Given the description of an element on the screen output the (x, y) to click on. 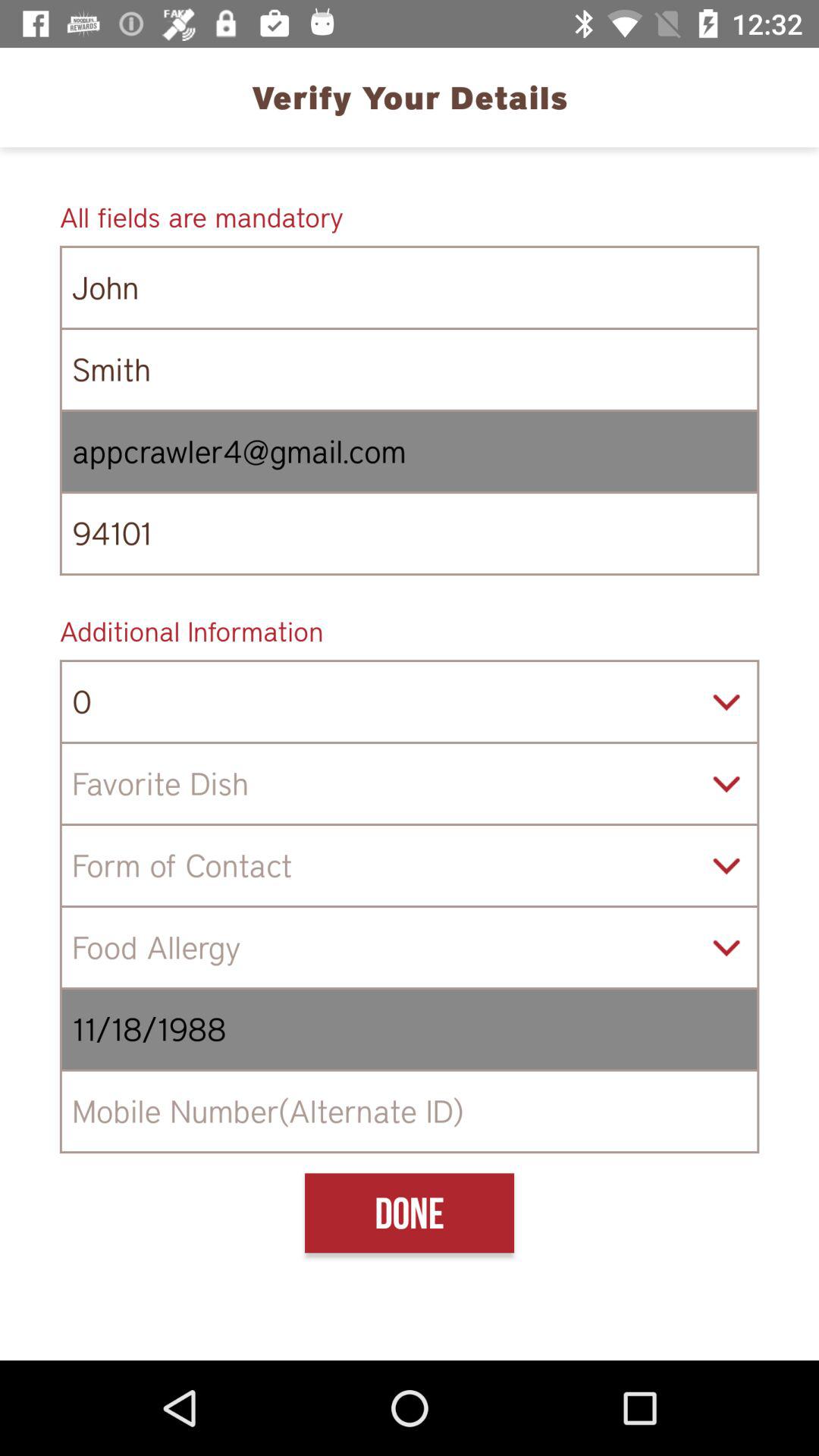
press the smith icon (409, 369)
